Given the description of an element on the screen output the (x, y) to click on. 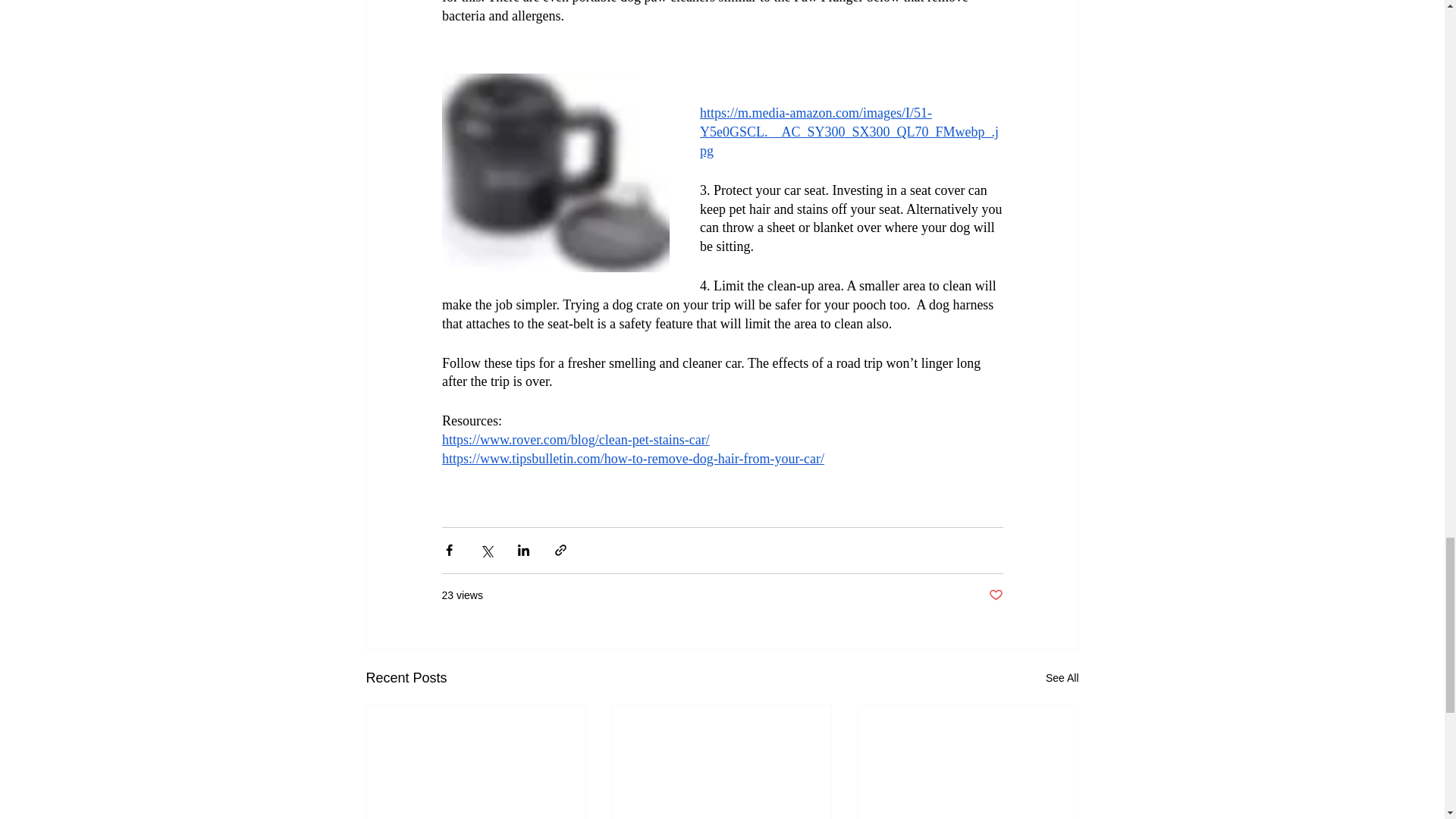
See All (1061, 678)
Post not marked as liked (995, 595)
